Given the description of an element on the screen output the (x, y) to click on. 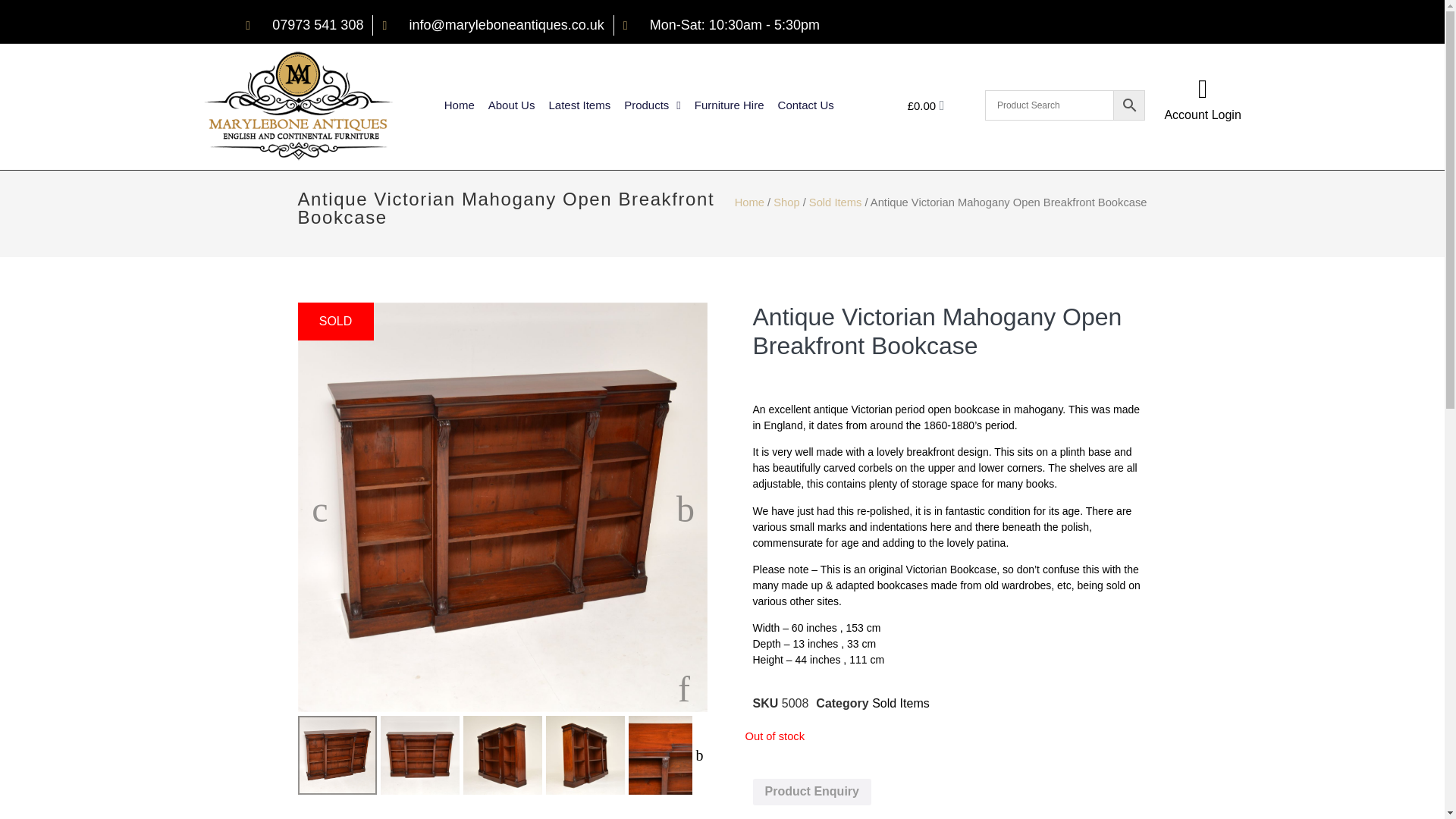
07973 541 308 (304, 25)
Latest Items (579, 104)
About Us (511, 104)
Products (652, 104)
